Given the description of an element on the screen output the (x, y) to click on. 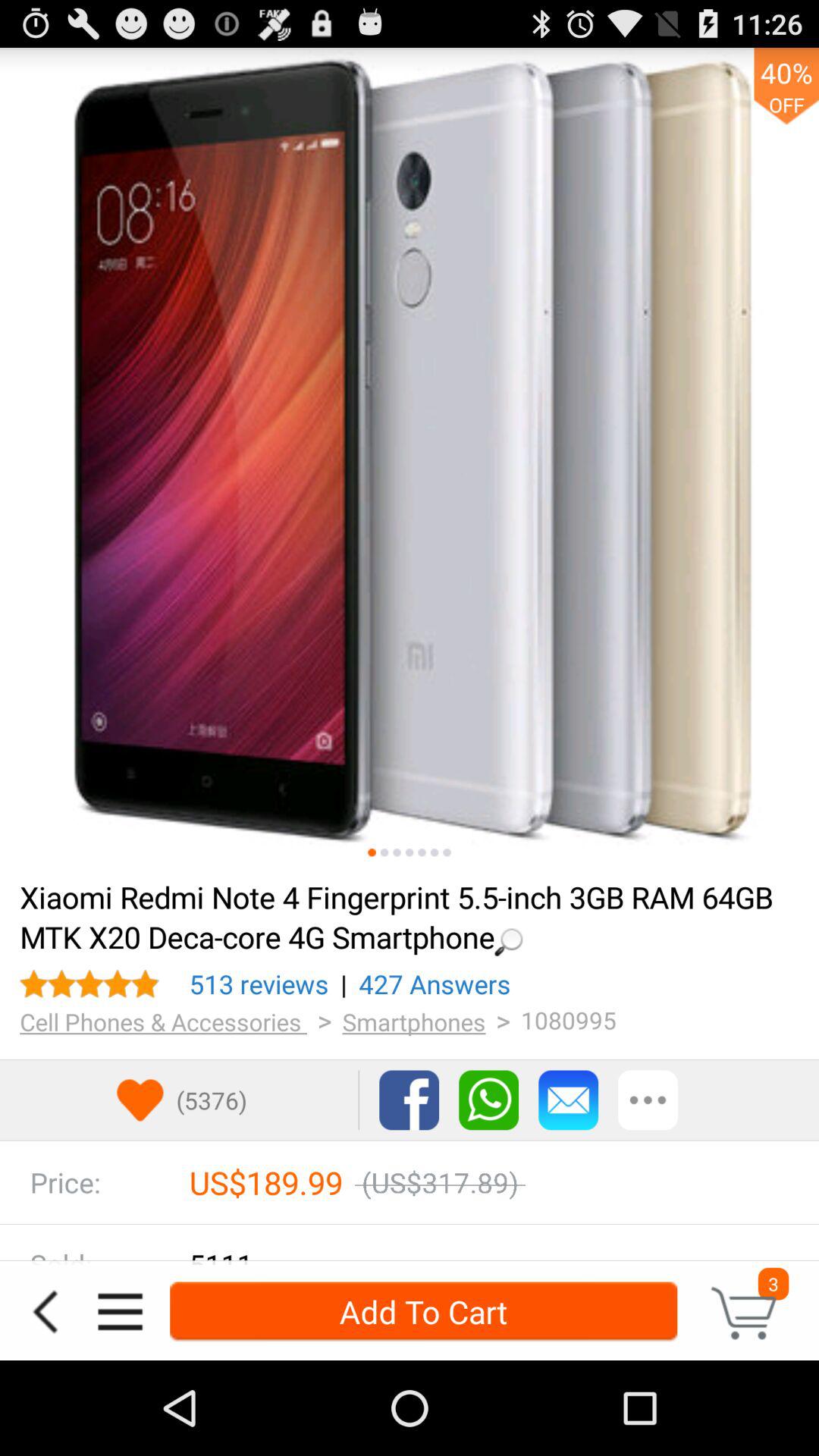
next (447, 852)
